Given the description of an element on the screen output the (x, y) to click on. 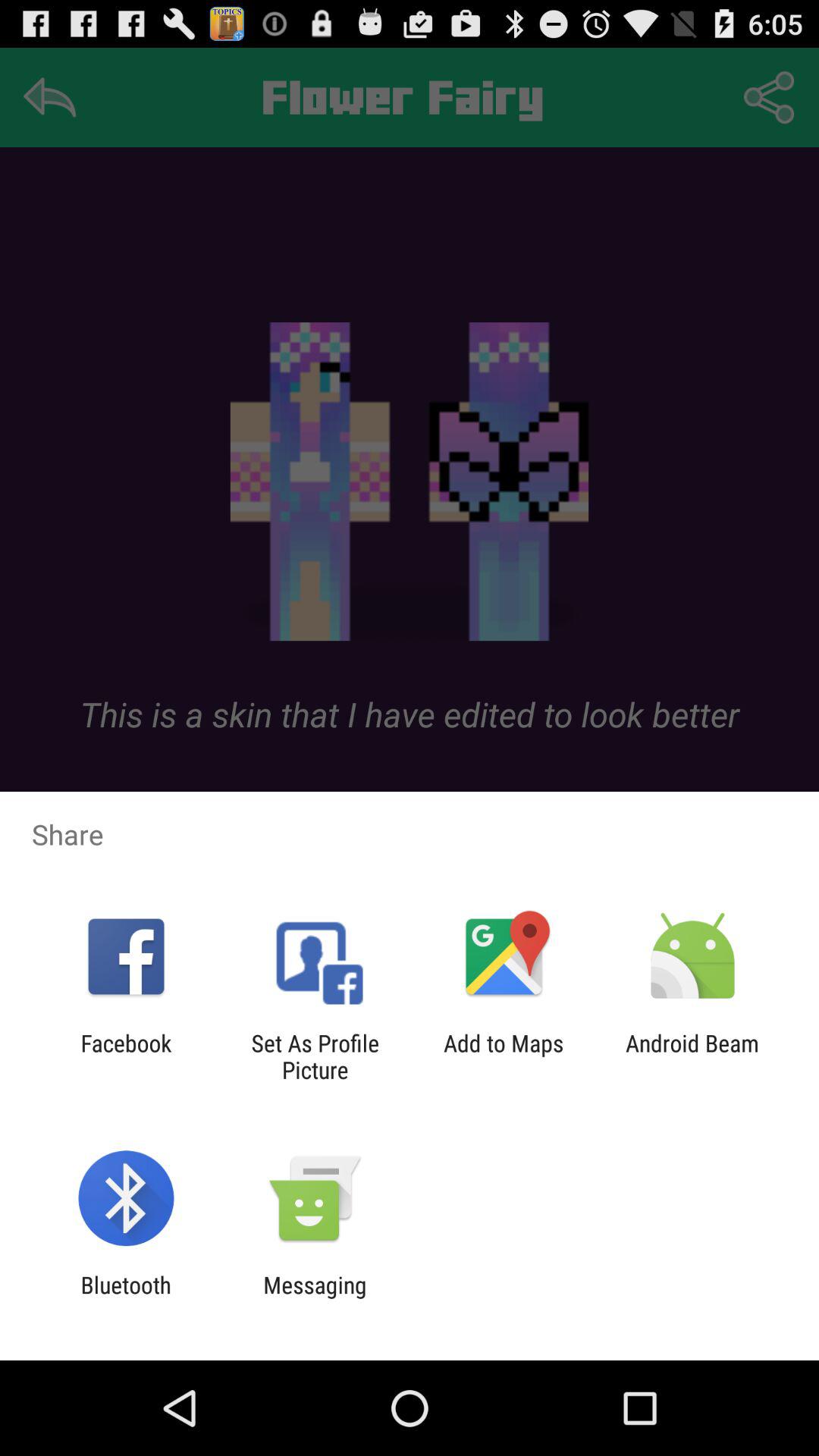
choose the app next to the messaging app (125, 1298)
